Given the description of an element on the screen output the (x, y) to click on. 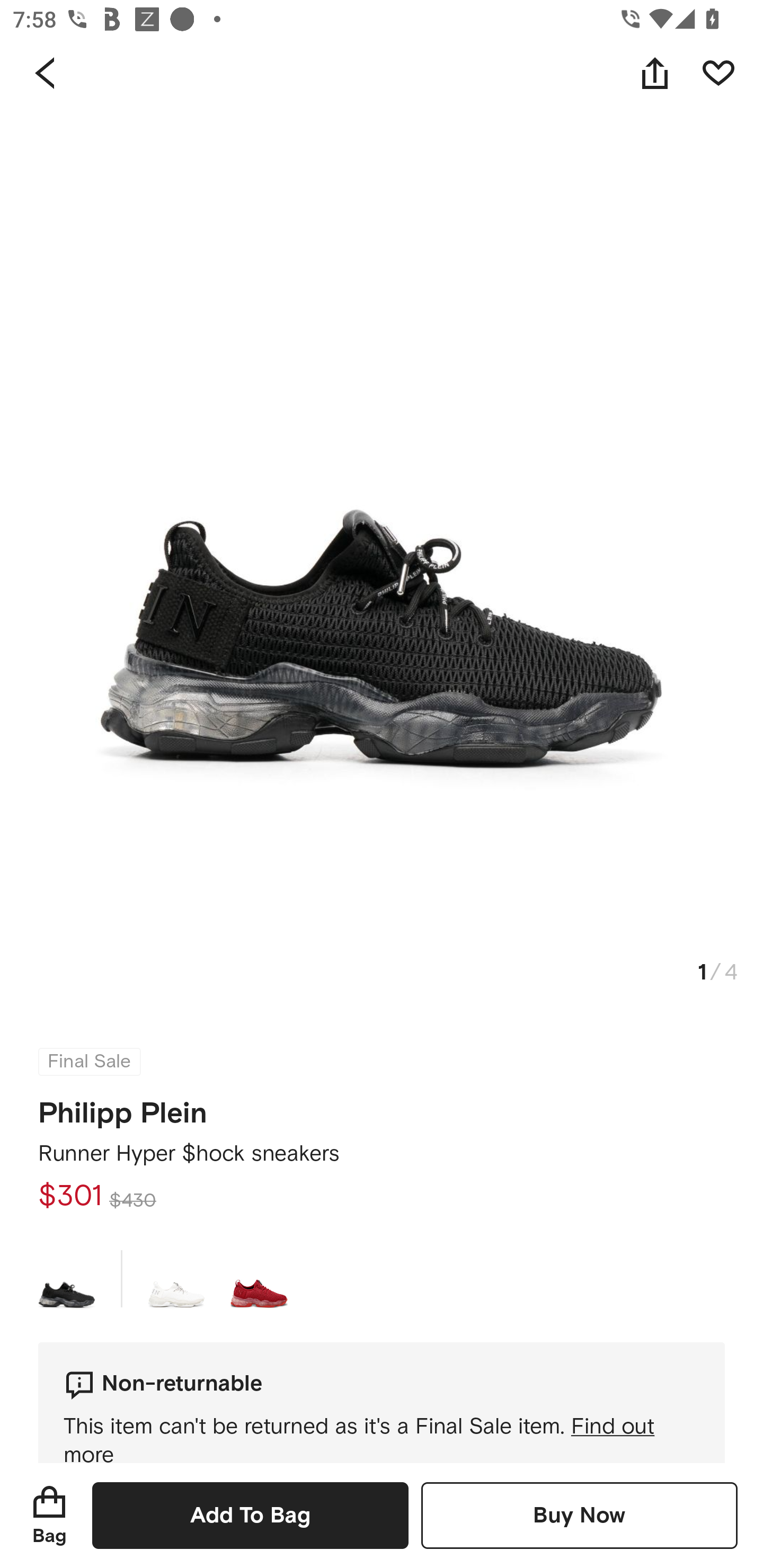
Philipp Plein (122, 1107)
Bag (49, 1515)
Add To Bag (250, 1515)
Buy Now (579, 1515)
